Given the description of an element on the screen output the (x, y) to click on. 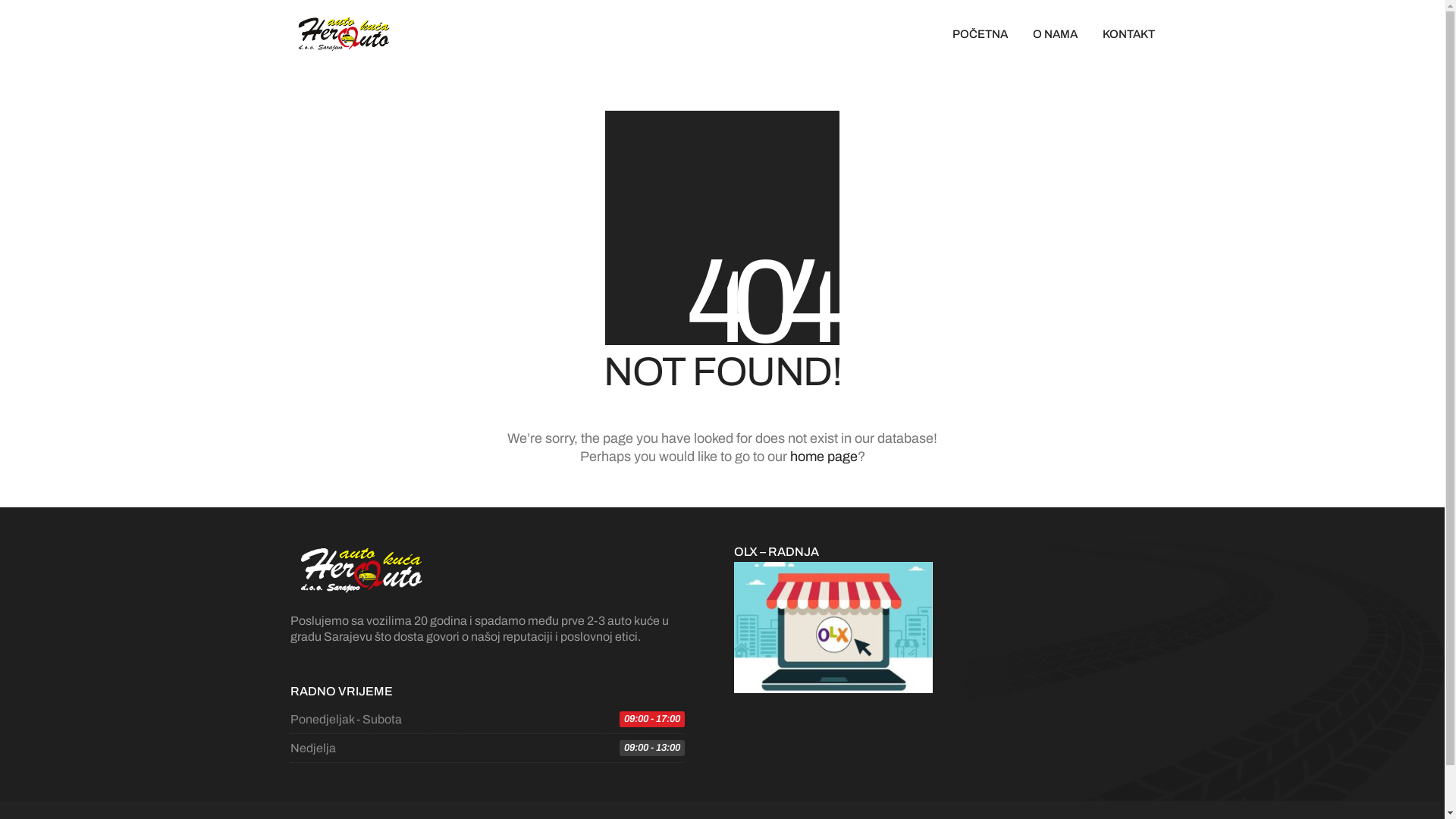
KONTAKT Element type: text (1128, 34)
O NAMA Element type: text (1054, 34)
home page Element type: text (823, 456)
